Given the description of an element on the screen output the (x, y) to click on. 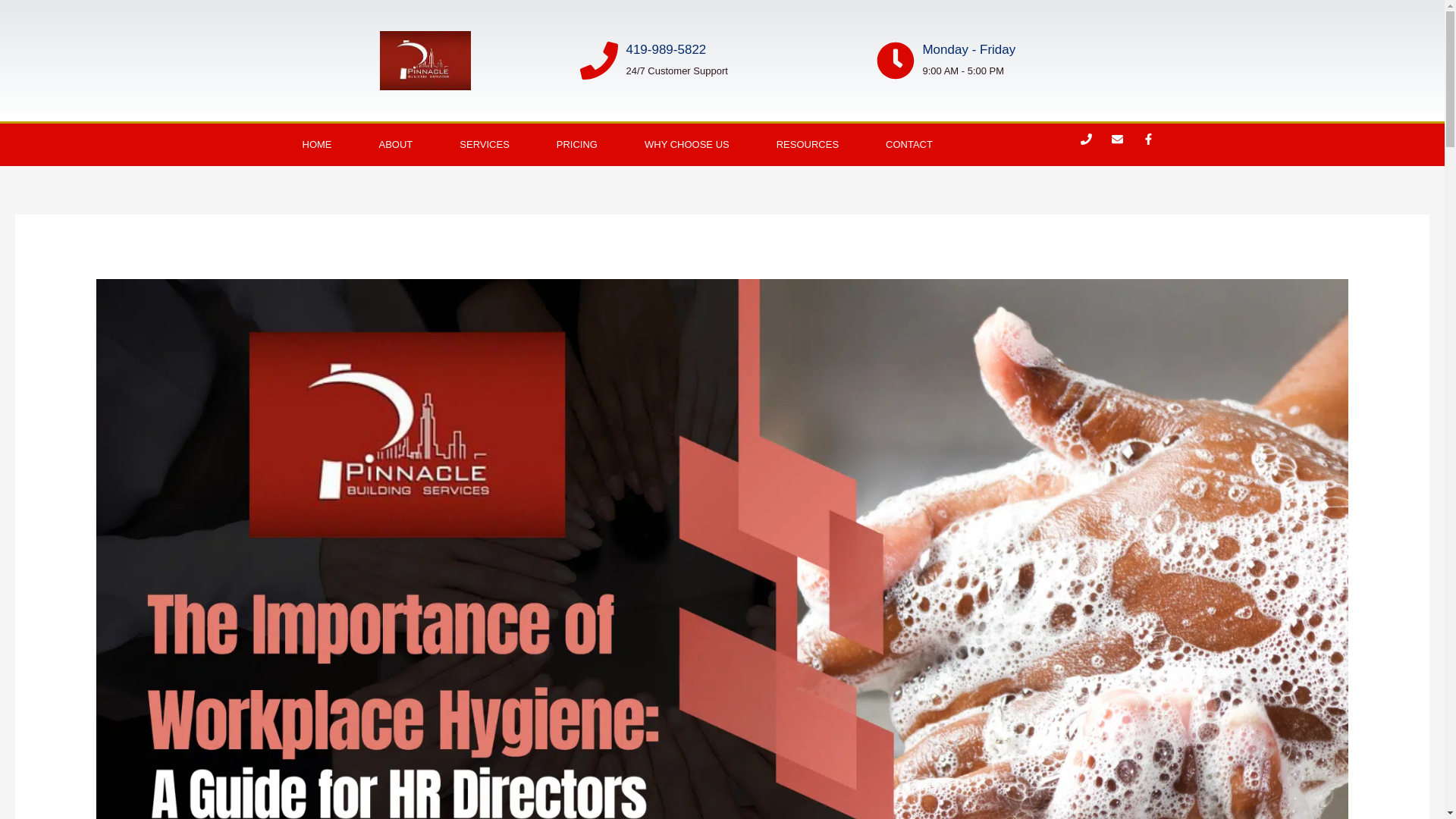
HOME (317, 144)
PRICING (576, 144)
RESOURCES (806, 144)
Phone (1091, 144)
CONTACT (908, 144)
ABOUT (395, 144)
419-989-5822 (666, 49)
WHY CHOOSE US (686, 144)
Facebook-f (1154, 144)
SERVICES (483, 144)
